Given the description of an element on the screen output the (x, y) to click on. 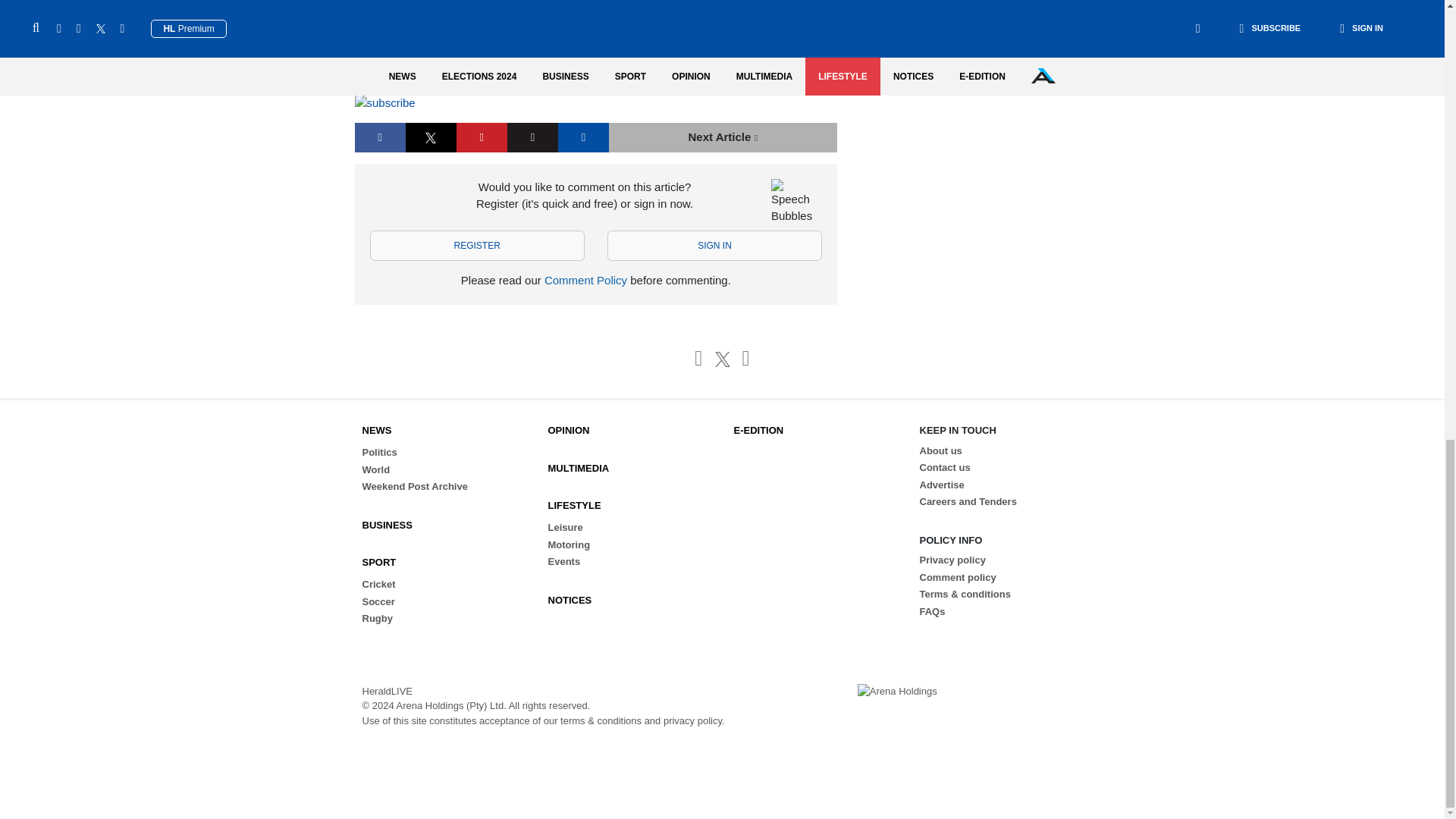
Miller plans to light up India (722, 137)
